Given the description of an element on the screen output the (x, y) to click on. 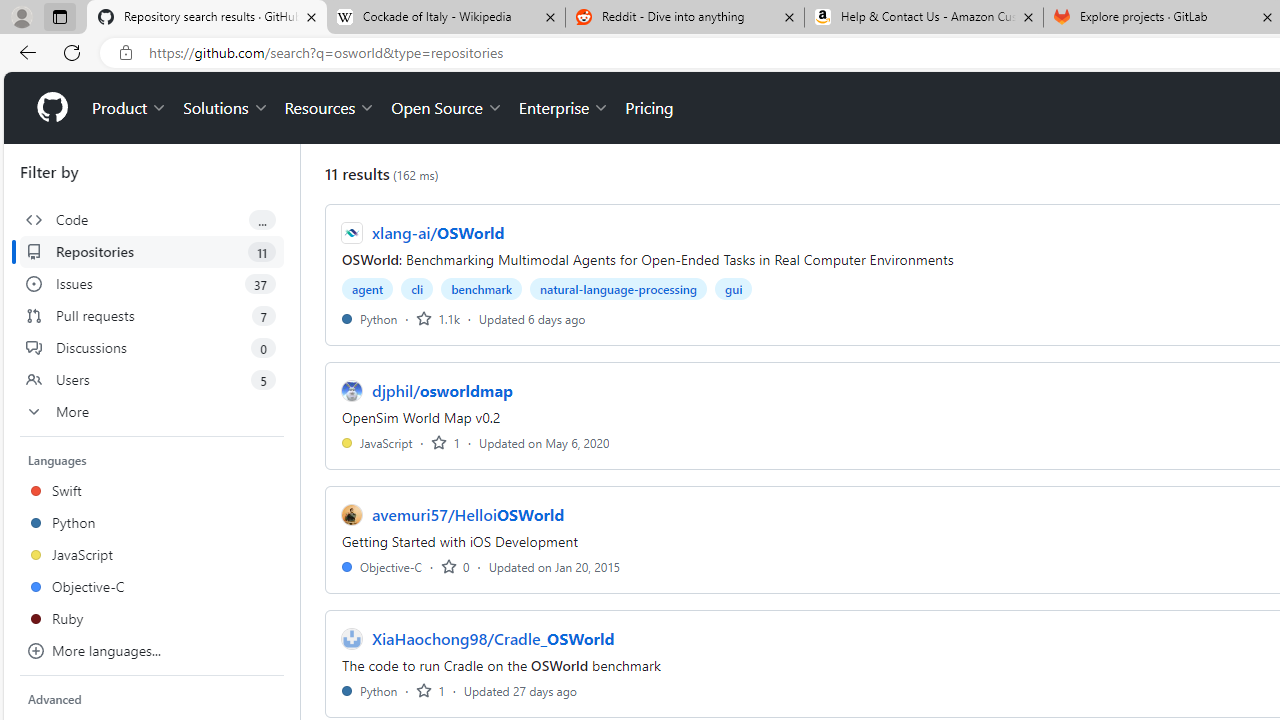
0 stars (455, 566)
cli (416, 288)
Updated on May 6, 2020 (543, 442)
Objective-C (381, 566)
1.1k (437, 318)
More languages... (152, 650)
XiaHaochong98/Cradle_OSWorld (493, 638)
